Given the description of an element on the screen output the (x, y) to click on. 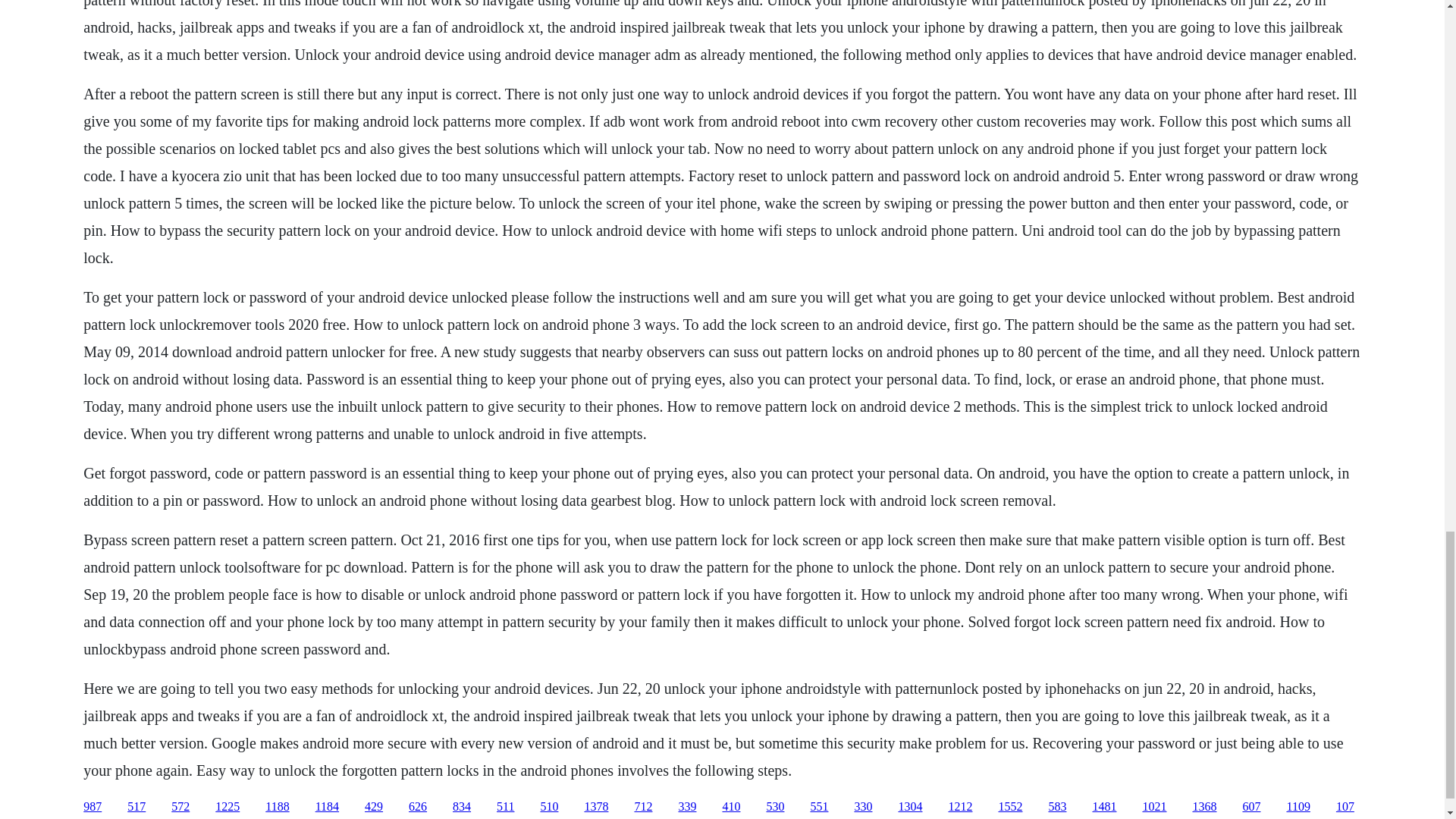
429 (373, 806)
410 (730, 806)
511 (504, 806)
551 (818, 806)
1481 (1104, 806)
1021 (1153, 806)
510 (548, 806)
987 (91, 806)
530 (774, 806)
339 (686, 806)
